Given the description of an element on the screen output the (x, y) to click on. 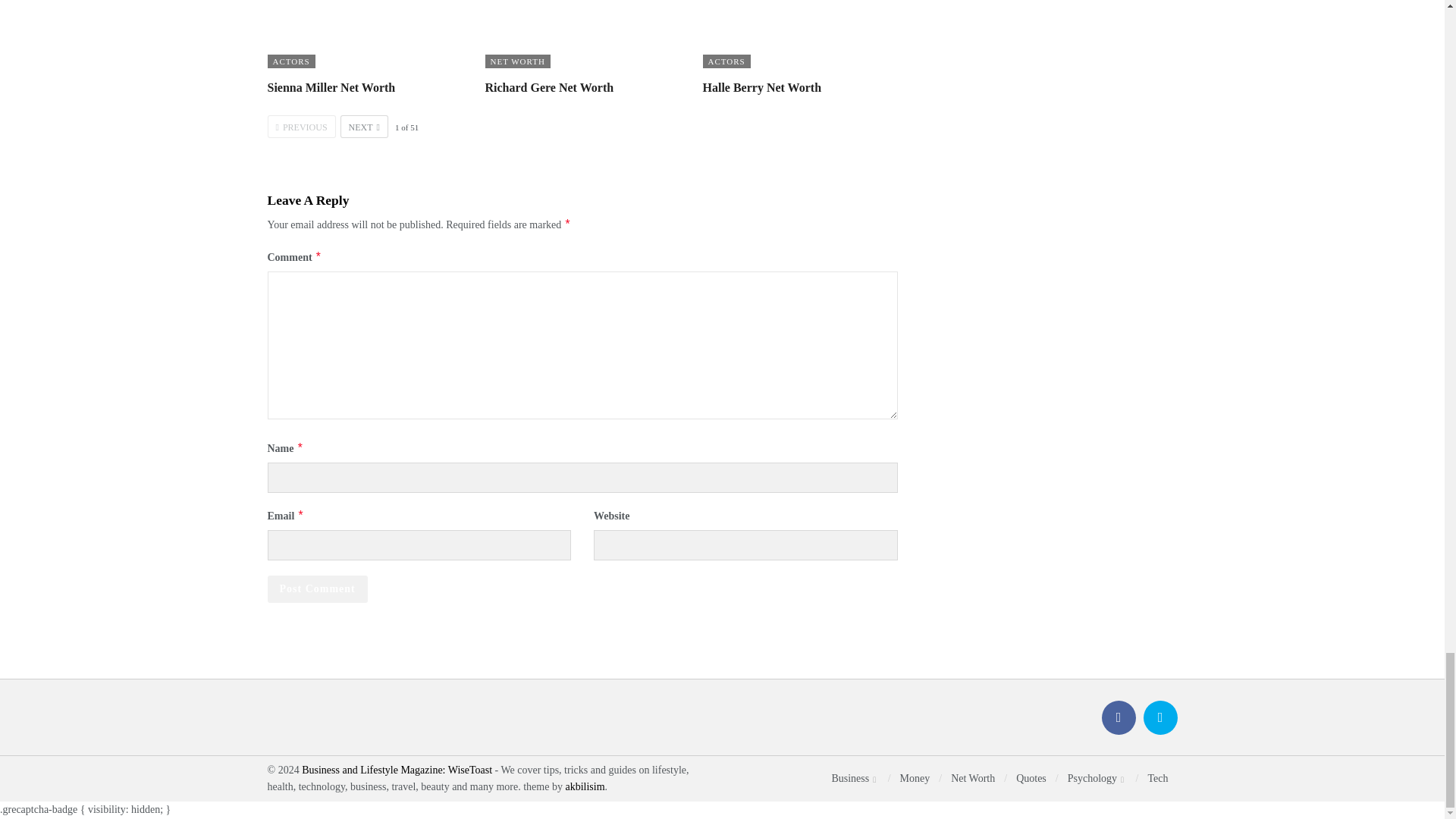
Post Comment (316, 588)
Previous (300, 126)
Next (364, 126)
Richard Gere Net Worth (581, 33)
Sienna Miller Net Worth (363, 33)
Sienna Miller Net Worth (330, 87)
Halle Berry Net Worth (761, 87)
Halle Berry Net Worth (798, 33)
Richard Gere Net Worth (549, 87)
ACTORS (290, 60)
